Given the description of an element on the screen output the (x, y) to click on. 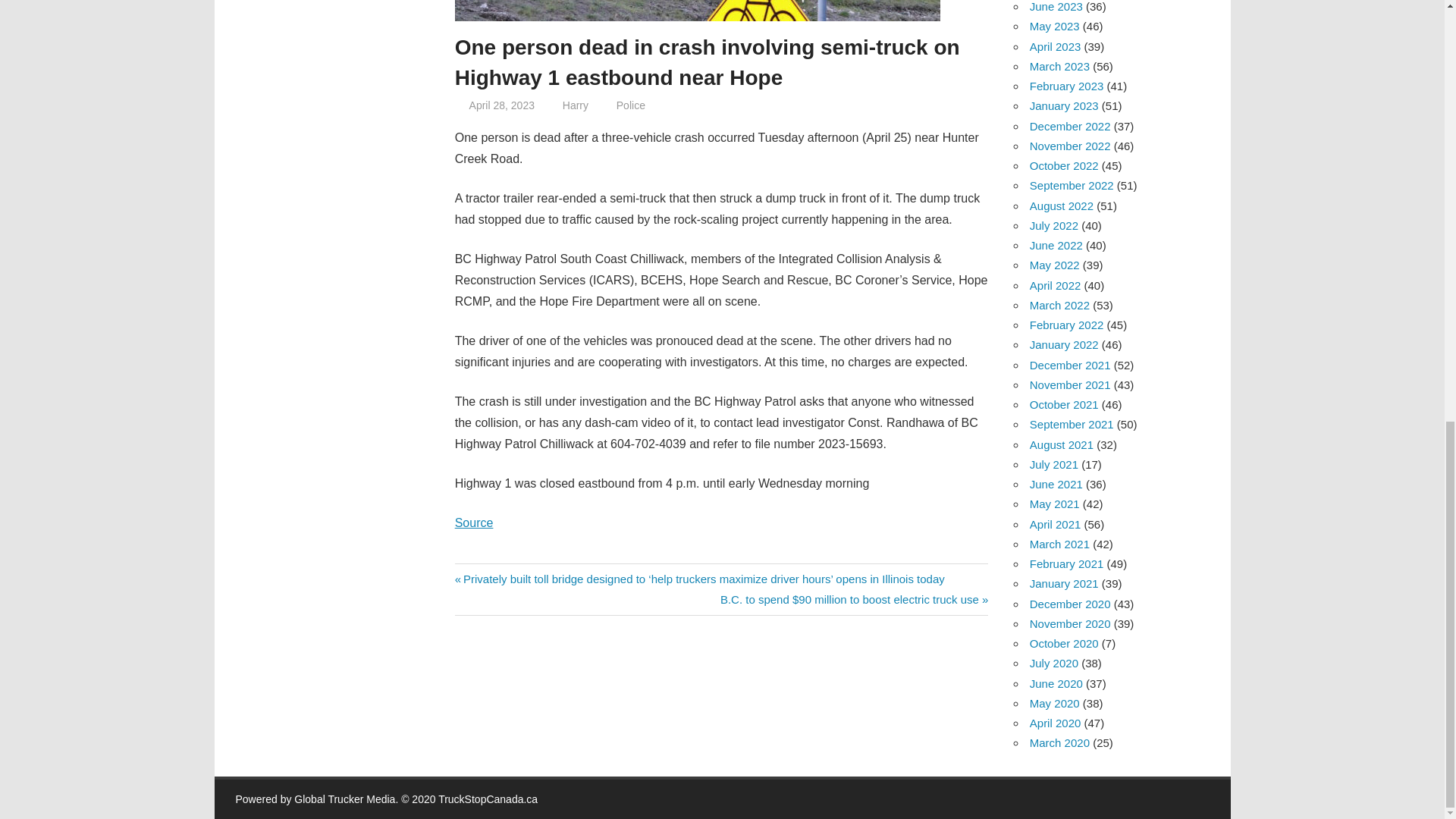
June 2023 (1056, 6)
12:33 pm (501, 105)
December 2022 (1069, 125)
Harry (575, 105)
April 2023 (1055, 46)
February 2023 (1066, 85)
April 28, 2023 (501, 105)
January 2023 (1064, 105)
Police (630, 105)
View all posts by Harry (575, 105)
August 2022 (1061, 205)
September 2022 (1071, 185)
Source (473, 522)
March 2023 (1059, 65)
November 2022 (1069, 145)
